Given the description of an element on the screen output the (x, y) to click on. 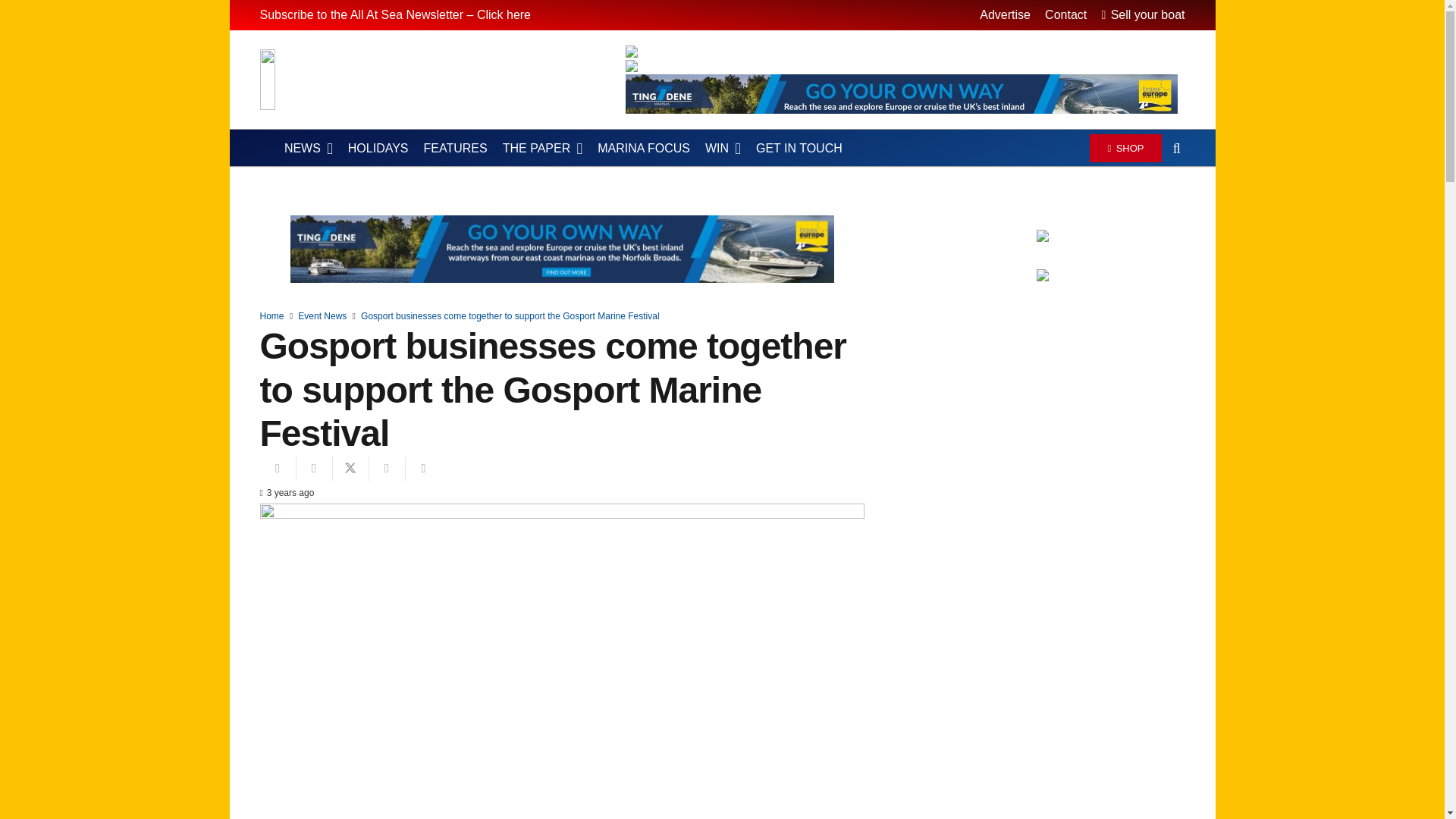
Home (271, 316)
Email this (277, 468)
Share this (313, 468)
GET IN TOUCH (799, 148)
Tweet this (349, 468)
NEWS (308, 148)
Share this (422, 468)
MARINA FOCUS (643, 148)
SHOP (1125, 147)
